Given the description of an element on the screen output the (x, y) to click on. 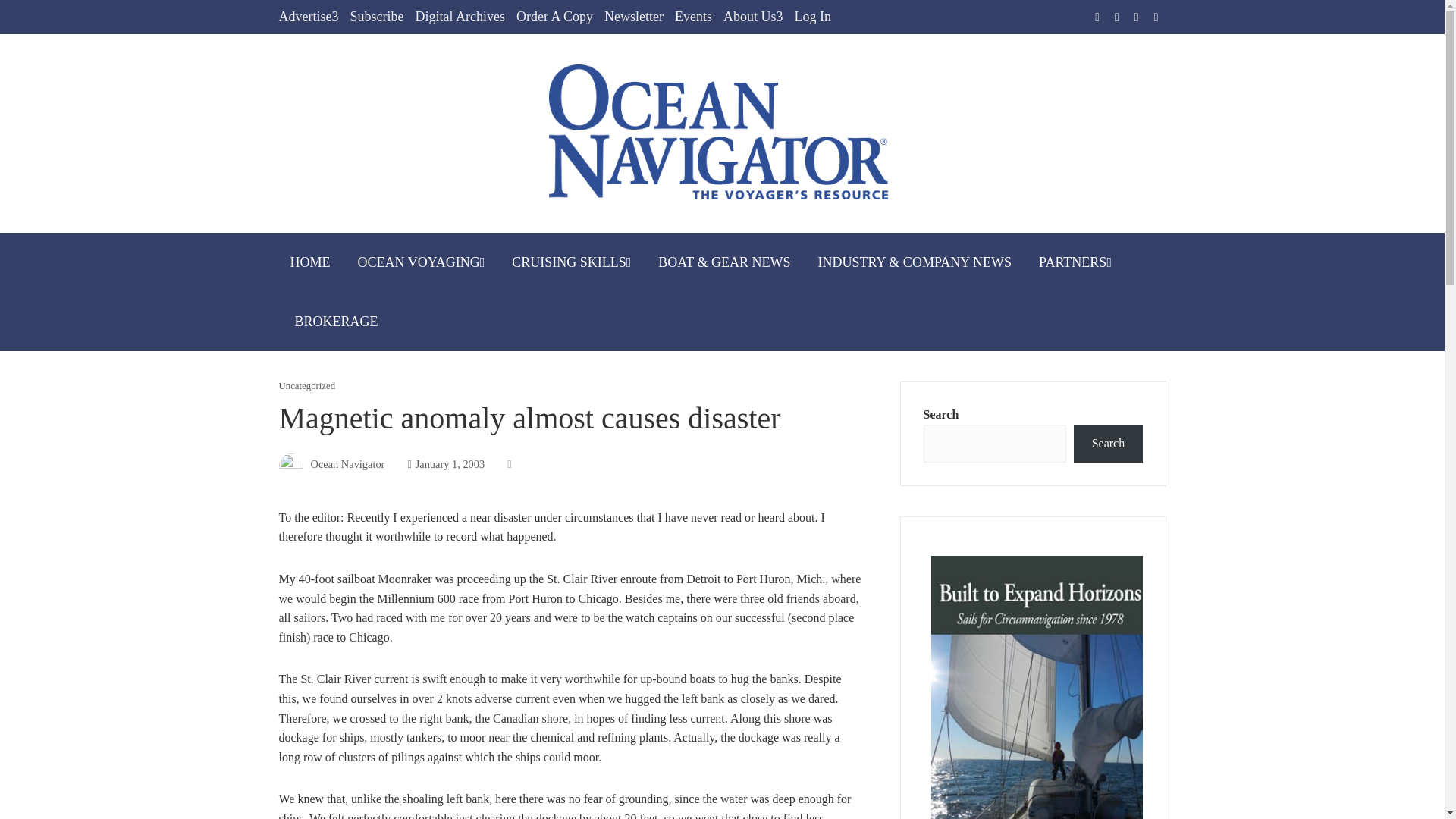
CRUISING SKILLS (571, 261)
Digital Archives (458, 17)
Newsletter (633, 17)
About Us (753, 17)
Subscribe (376, 17)
Order A Copy (554, 17)
PARTNERS (1074, 261)
HOME (310, 261)
Advertise (309, 17)
OCEAN VOYAGING (421, 261)
Events (693, 17)
Log In (812, 17)
